Given the description of an element on the screen output the (x, y) to click on. 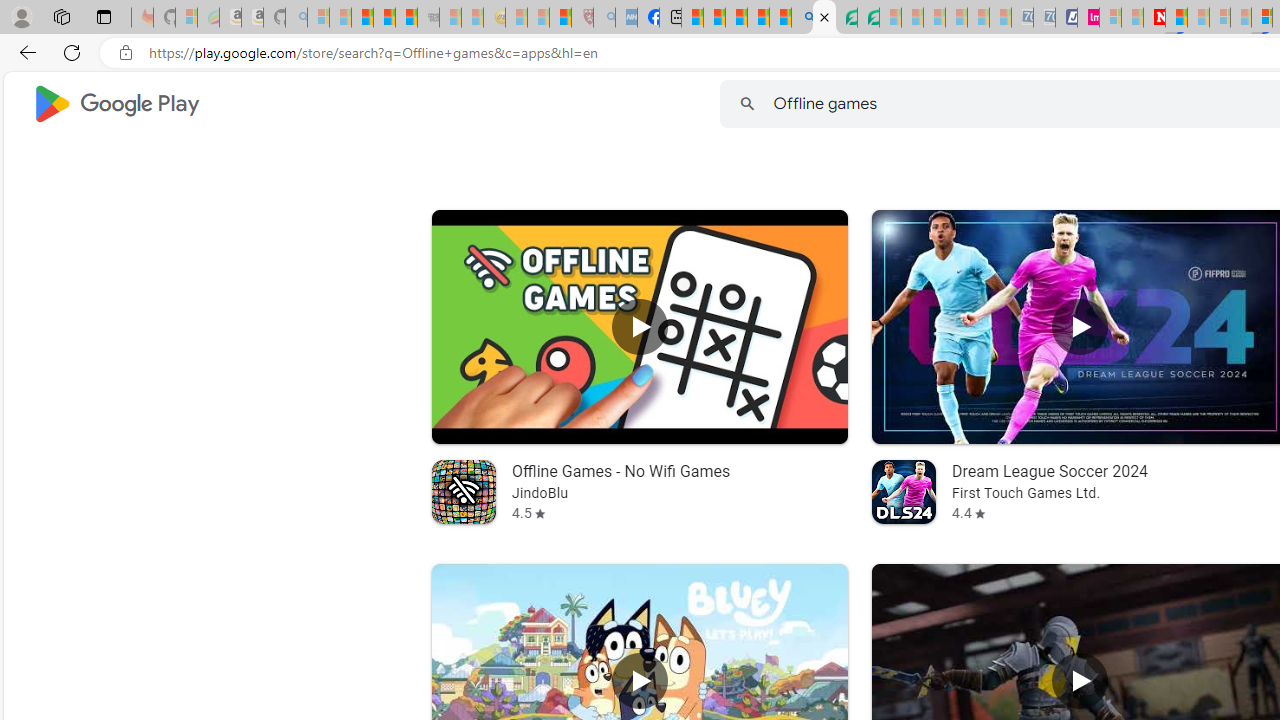
Latest Politics News & Archive | Newsweek.com (1154, 17)
New Report Confirms 2023 Was Record Hot | Watch (406, 17)
Combat Siege (428, 17)
Microsoft Start - Sleeping (1132, 17)
google - Search (802, 17)
Terms of Use Agreement (846, 17)
Personal Profile (21, 16)
Play Bluey: Let's Play! (638, 681)
list of asthma inhalers uk - Search - Sleeping (604, 17)
